Given the description of an element on the screen output the (x, y) to click on. 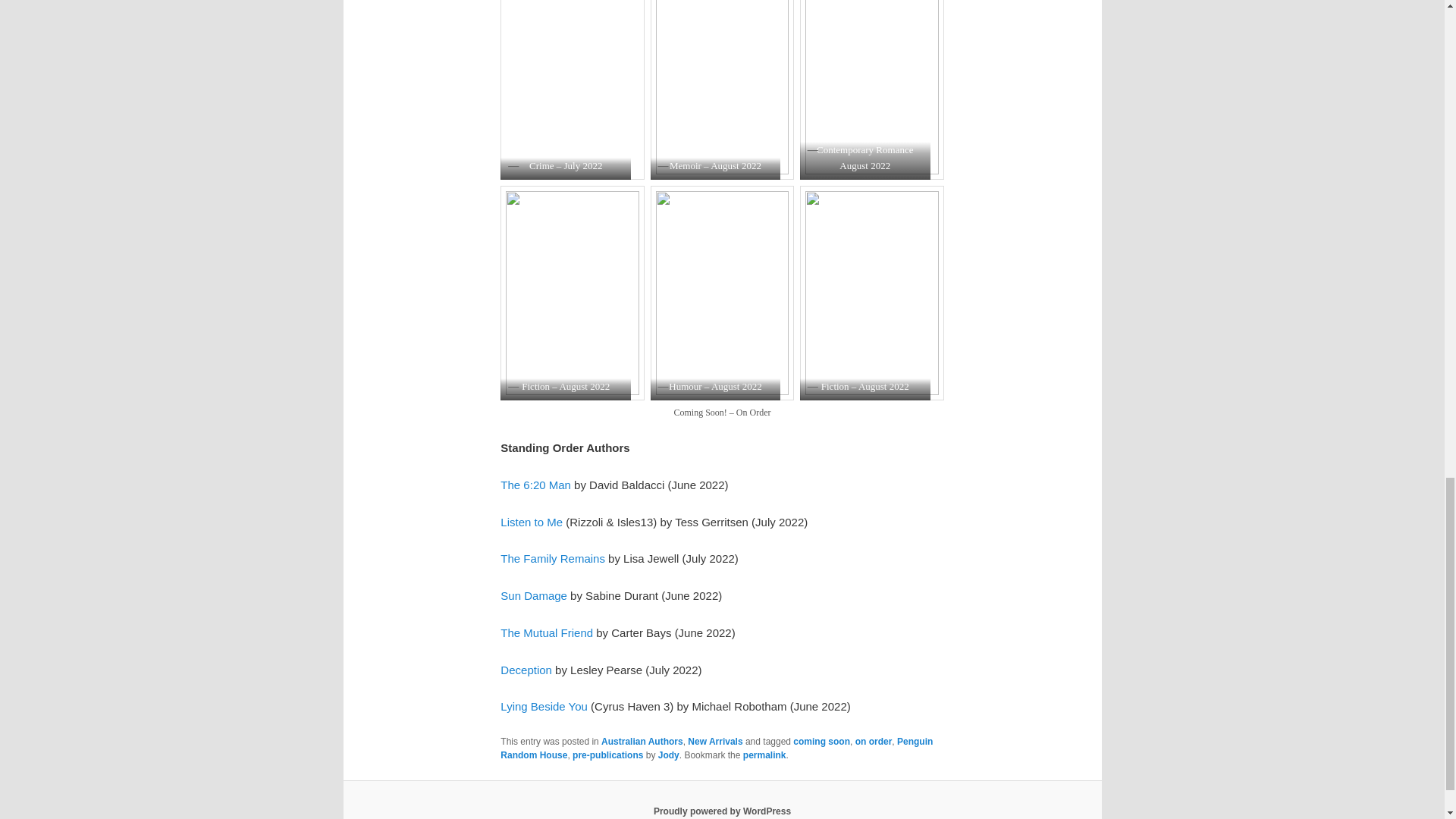
Lying Beside You (544, 706)
Semantic Personal Publishing Platform (721, 810)
Permalink to Coming Soon! New Titles (764, 755)
Deception (525, 669)
Sun Damage (533, 594)
Penguin Random House (716, 748)
on order (874, 741)
Australian Authors (641, 741)
The Mutual Friend (546, 632)
coming soon (821, 741)
Listen to Me (531, 521)
The Family Remains (552, 558)
Jody (668, 755)
permalink (764, 755)
The 6:20 Man (535, 484)
